Given the description of an element on the screen output the (x, y) to click on. 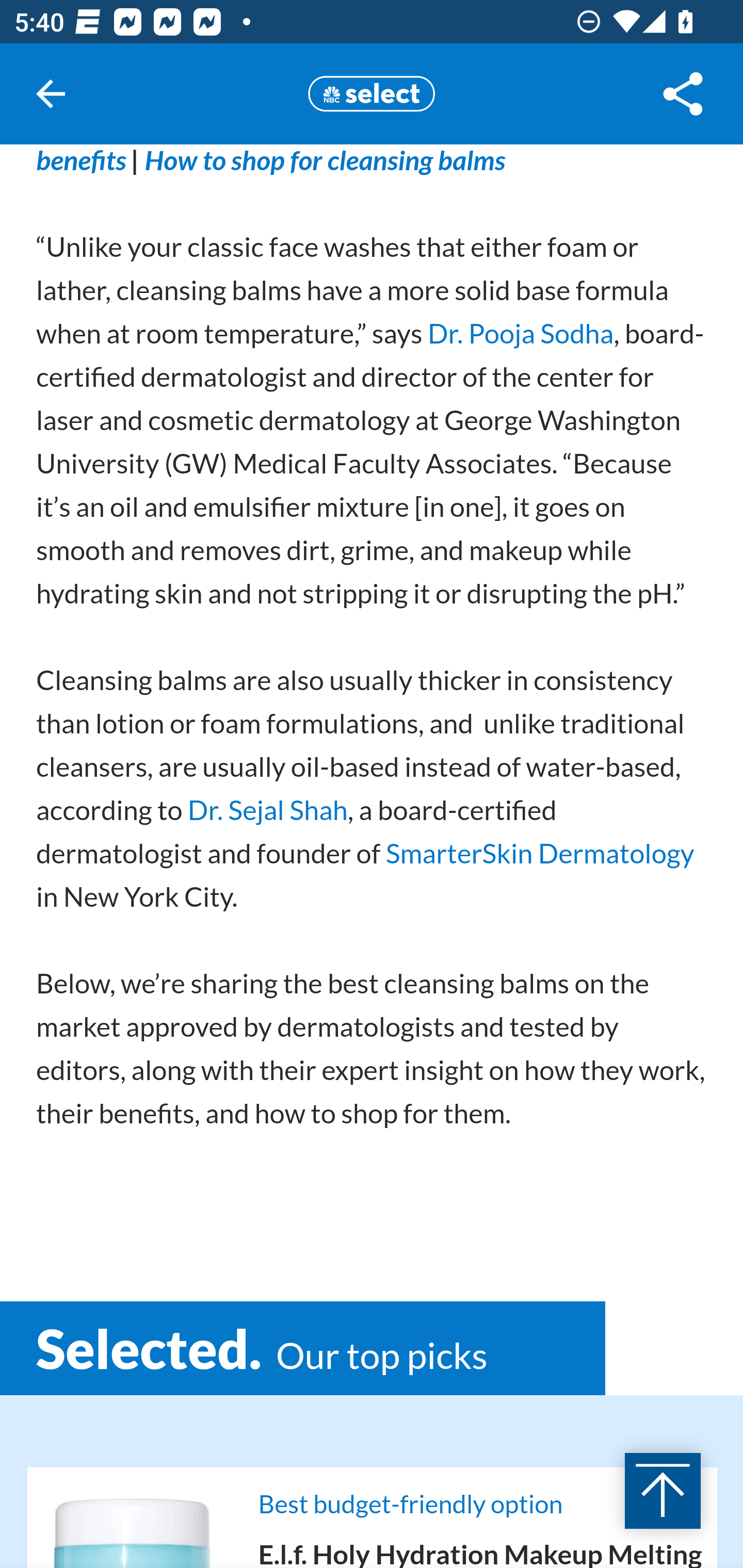
Navigate up (50, 93)
Share Article, button (683, 94)
Header, Select (371, 93)
Cleansing balm benefits (352, 160)
How to shop for cleansing balms (324, 160)
Dr. Pooja Sodha (519, 332)
Dr. Sejal Shah (266, 809)
SmarterSkin Dermatology (539, 853)
